Given the description of an element on the screen output the (x, y) to click on. 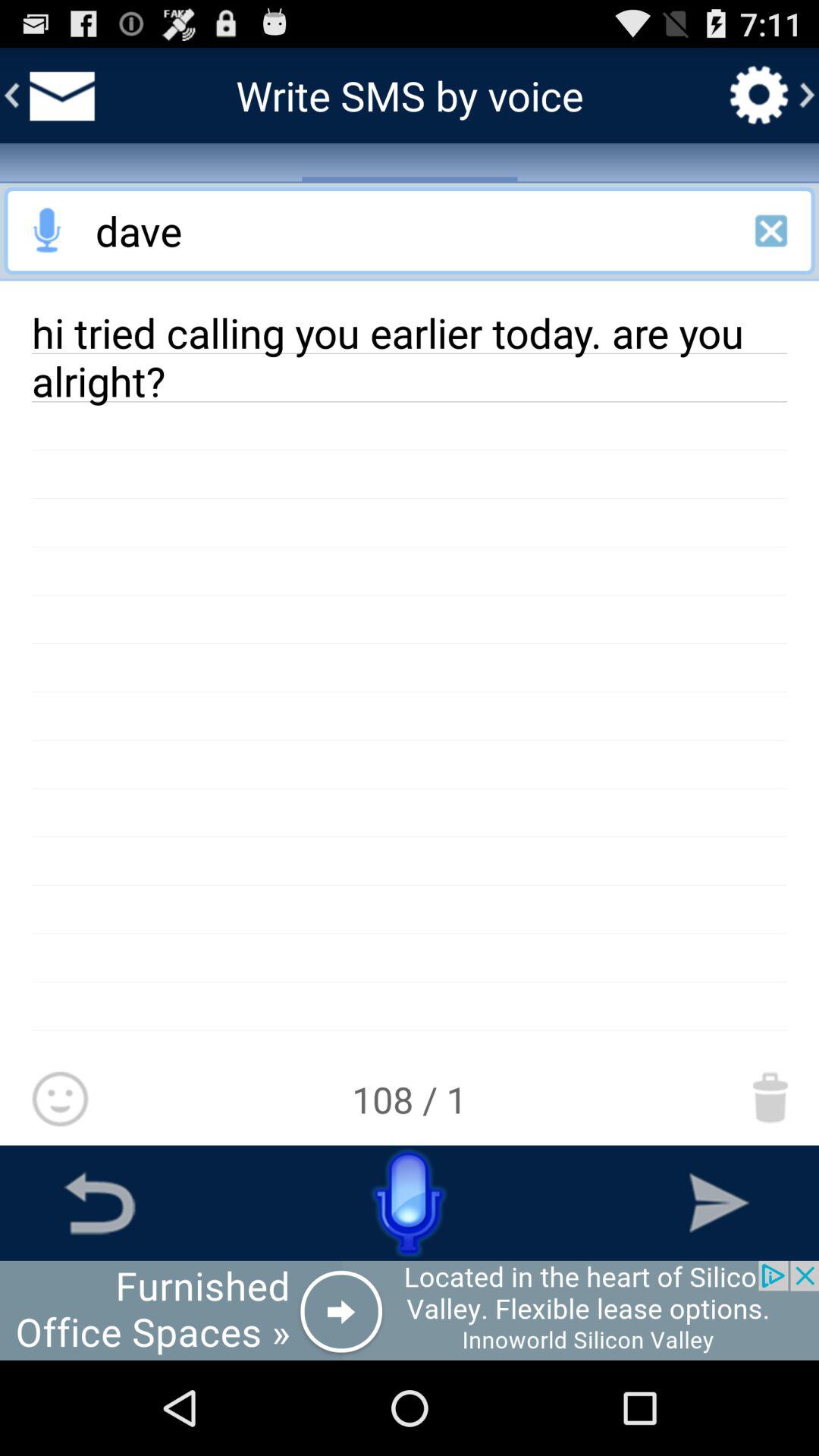
send sms (719, 1202)
